Given the description of an element on the screen output the (x, y) to click on. 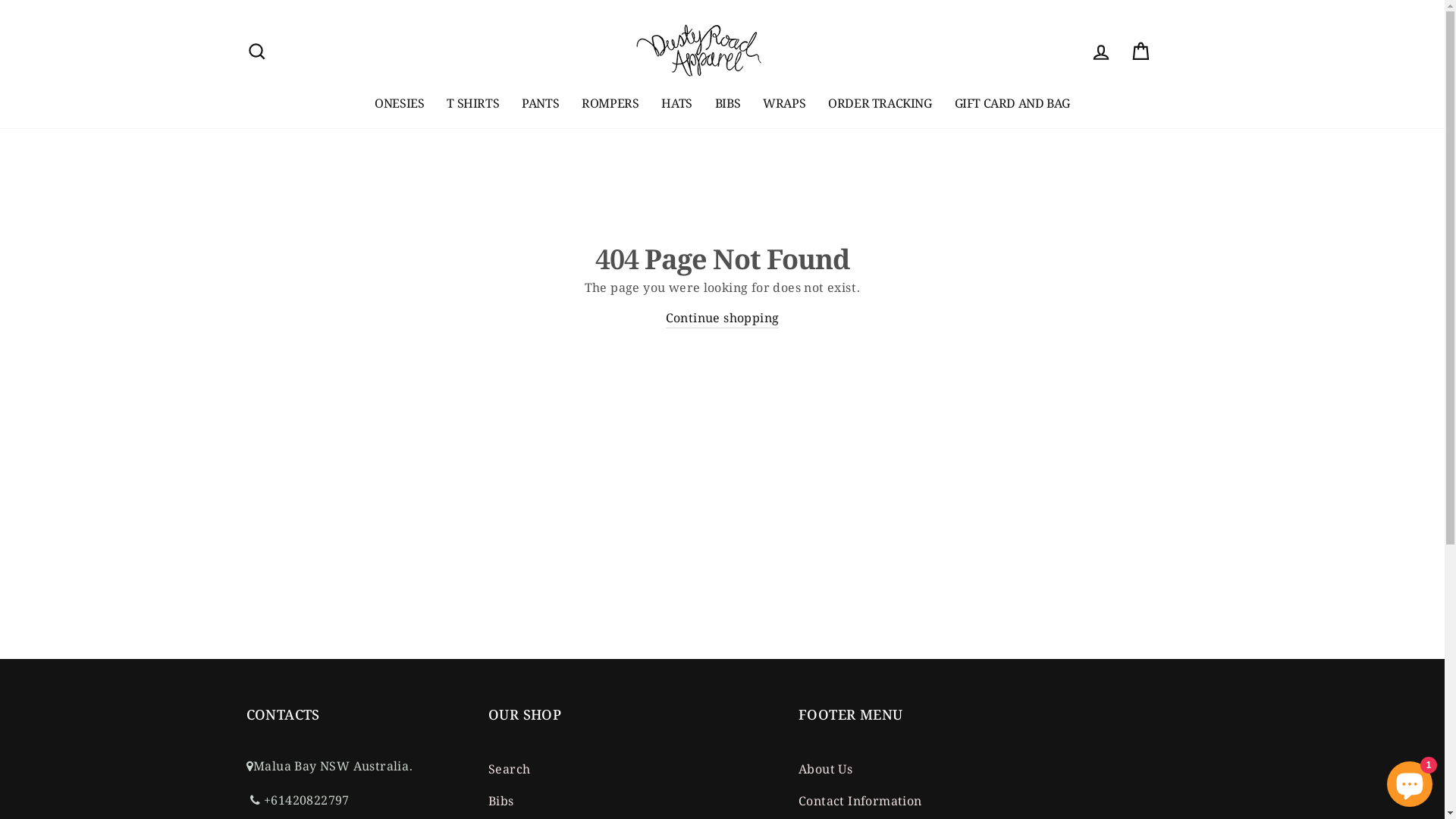
LOG IN Element type: text (1100, 50)
BIBS Element type: text (727, 101)
Search Element type: text (509, 767)
ROMPERS Element type: text (609, 101)
Skip to content Element type: text (0, 0)
ORDER TRACKING Element type: text (879, 101)
WRAPS Element type: text (783, 101)
Continue shopping Element type: text (722, 316)
ONESIES Element type: text (399, 101)
PANTS Element type: text (540, 101)
Shopify online store chat Element type: hover (1409, 780)
CART Element type: text (1140, 50)
T SHIRTS Element type: text (472, 101)
SEARCH Element type: text (256, 50)
Bibs Element type: text (501, 798)
About Us Element type: text (825, 767)
GIFT CARD AND BAG Element type: text (1012, 101)
HATS Element type: text (675, 101)
Contact Information Element type: text (860, 798)
